Given the description of an element on the screen output the (x, y) to click on. 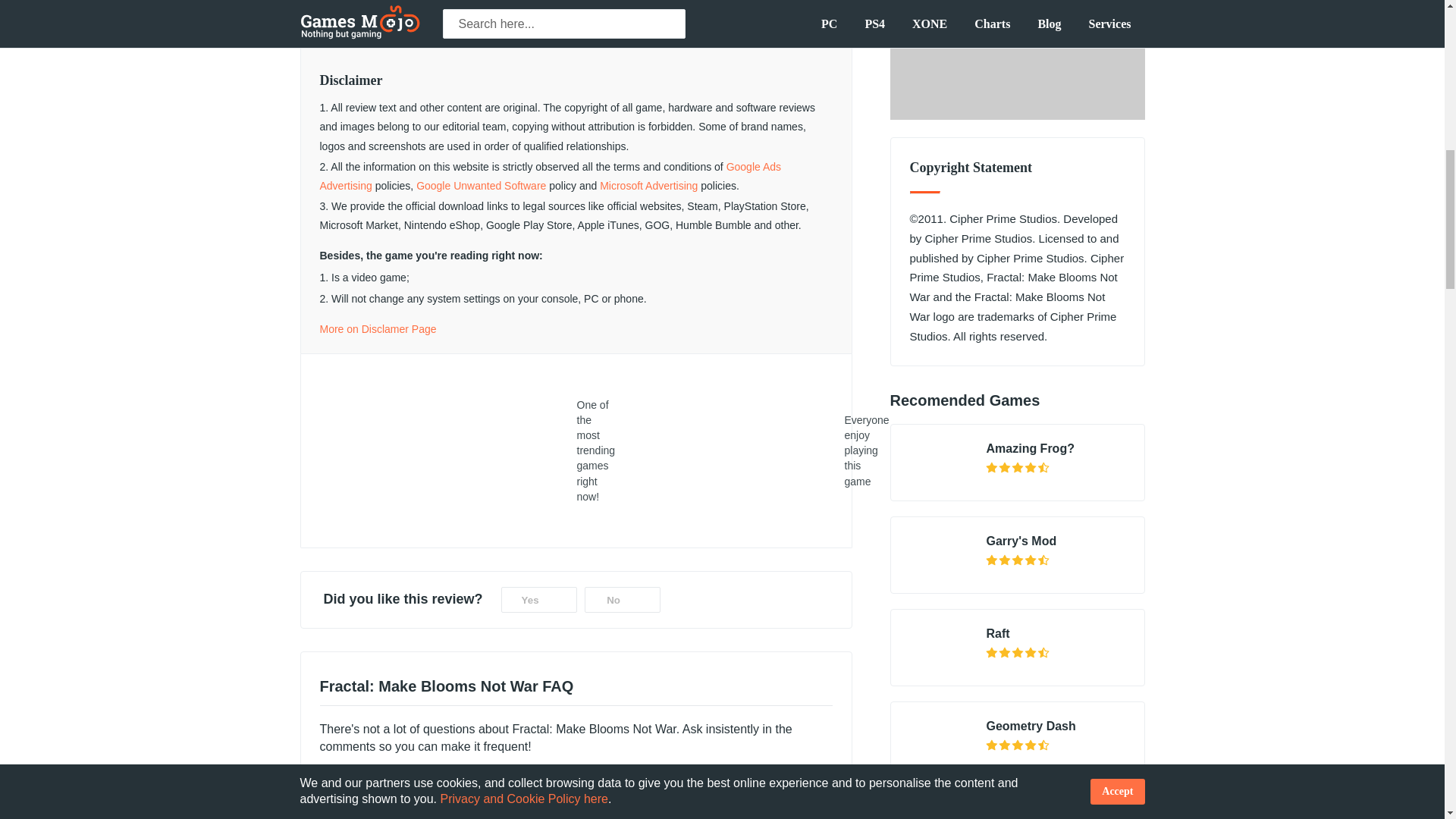
Yes (538, 599)
No (623, 599)
Google Ads Advertising (550, 175)
More on Disclamer Page (378, 328)
Google Unwanted Software (481, 185)
Yup,take me to comments (418, 785)
Microsoft Advertising (648, 185)
